Given the description of an element on the screen output the (x, y) to click on. 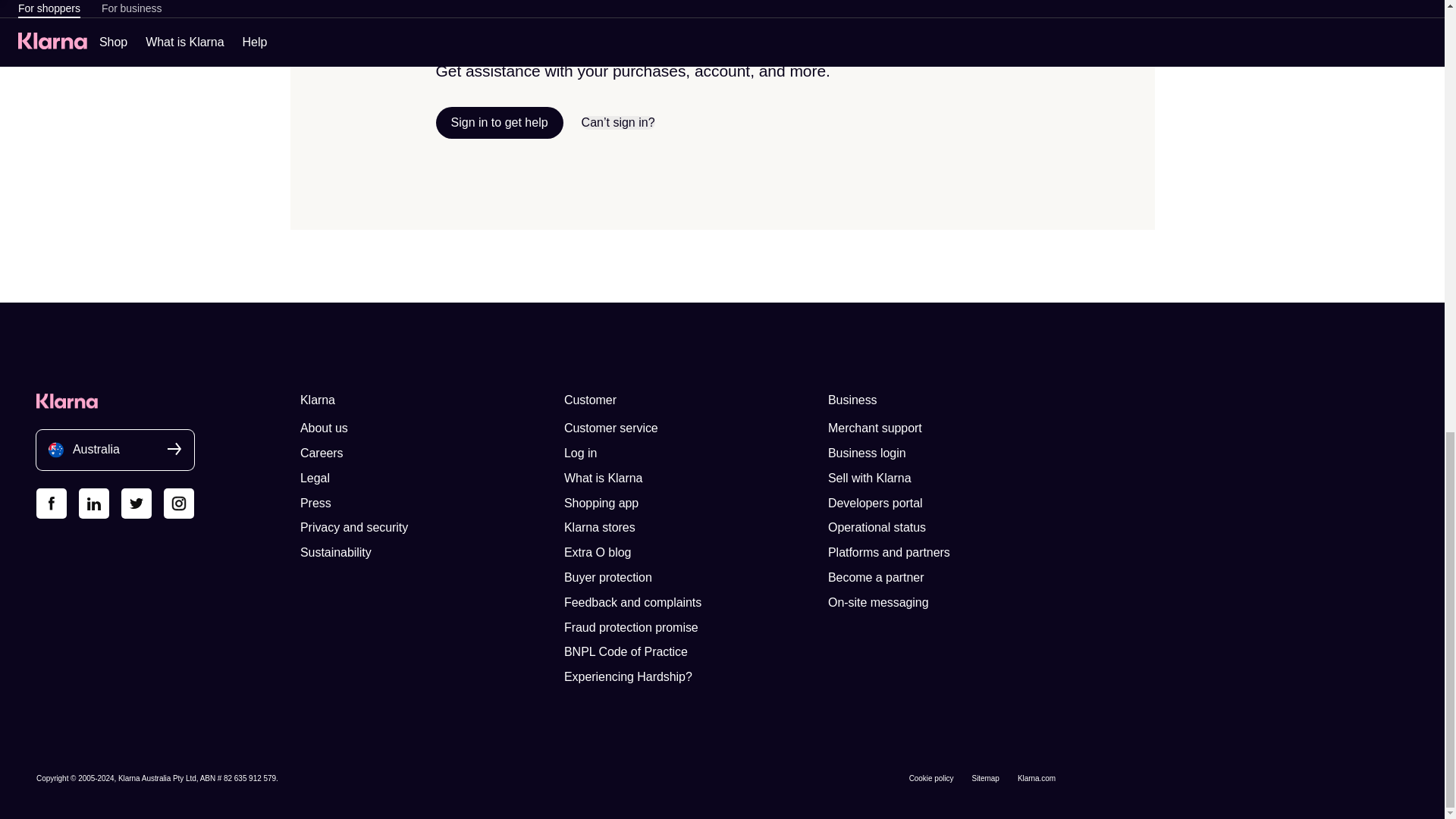
Sign in to get help (498, 122)
